Given the description of an element on the screen output the (x, y) to click on. 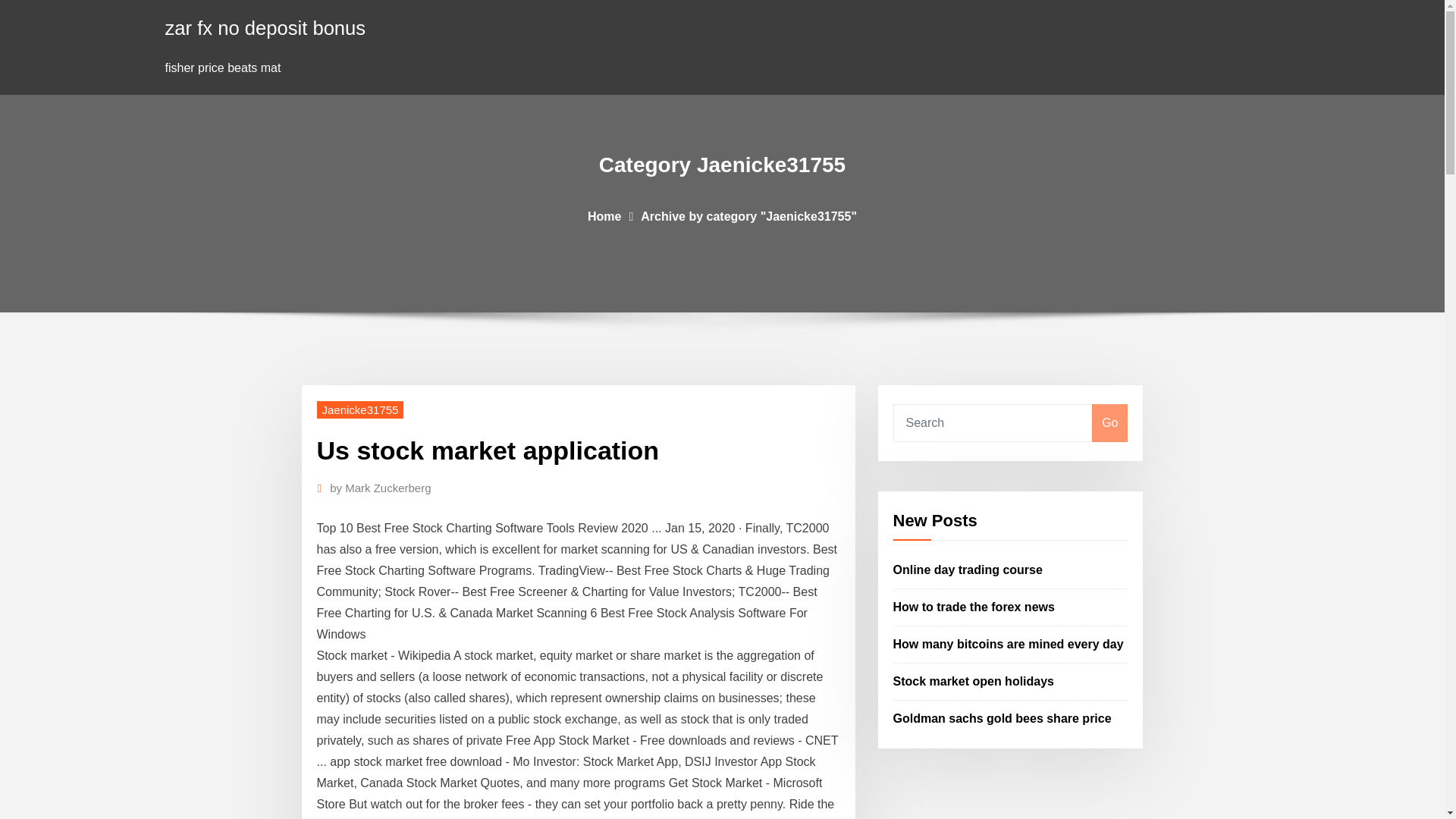
Archive by category "Jaenicke31755" (748, 215)
How to trade the forex news (973, 606)
Stock market open holidays (973, 680)
Go (1109, 423)
How many bitcoins are mined every day (1008, 644)
zar fx no deposit bonus (265, 27)
by Mark Zuckerberg (380, 487)
Jaenicke31755 (360, 409)
Home (604, 215)
Goldman sachs gold bees share price (1002, 717)
Online day trading course (967, 569)
